Given the description of an element on the screen output the (x, y) to click on. 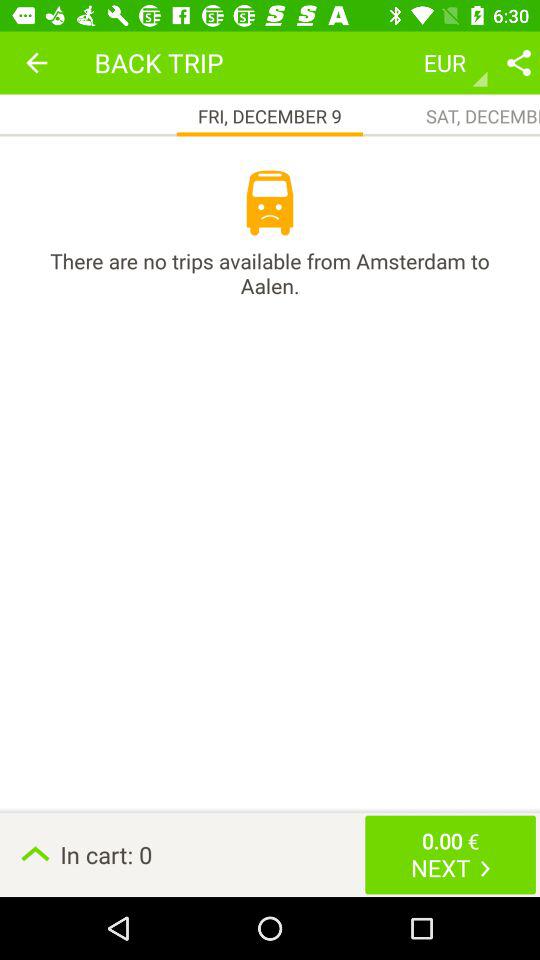
share (519, 62)
